Given the description of an element on the screen output the (x, y) to click on. 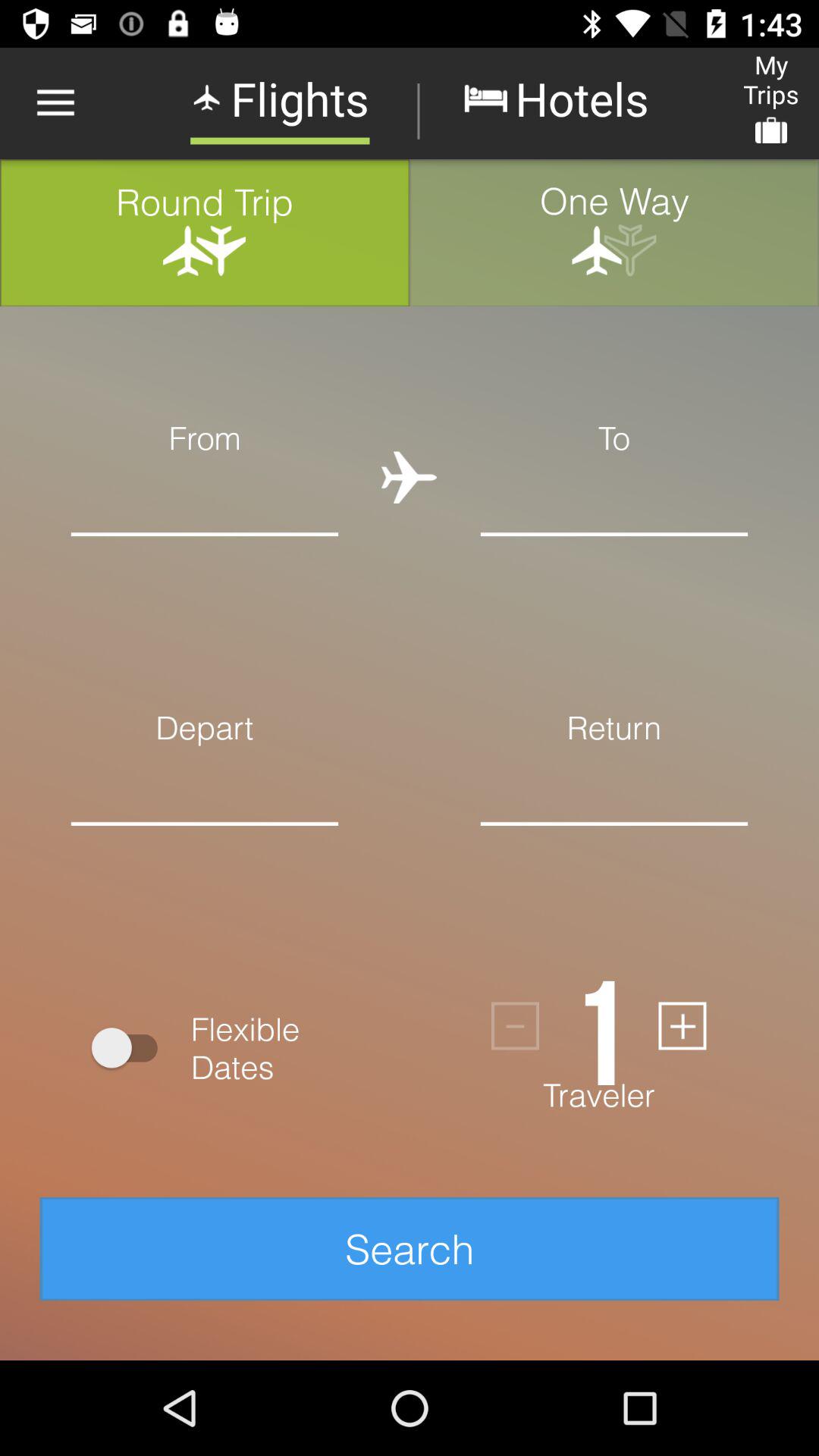
toggle flexible dates (131, 1047)
